Given the description of an element on the screen output the (x, y) to click on. 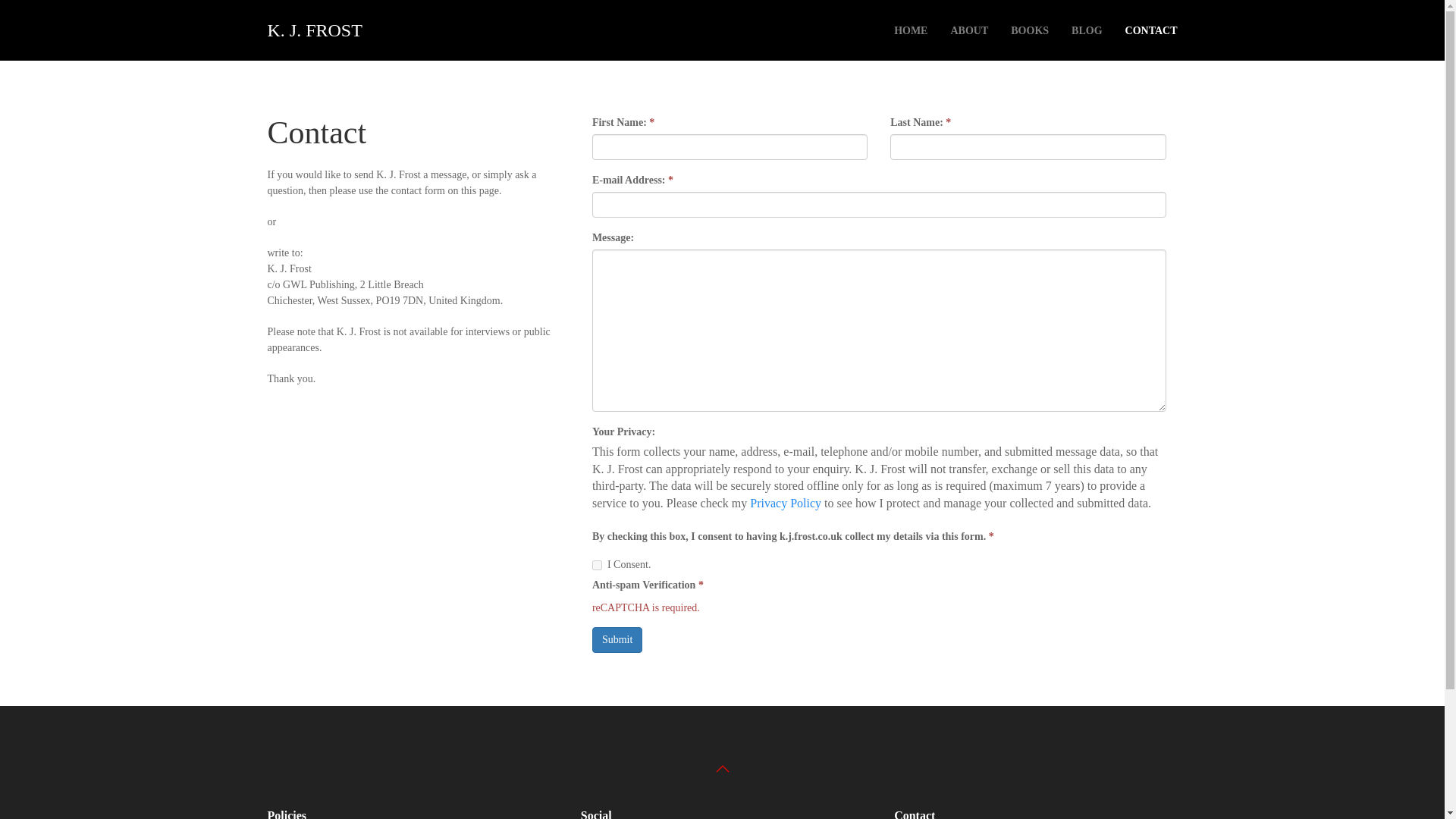
CONTACT (1151, 30)
Return to Top (721, 768)
Privacy Policy (785, 502)
BOOKS (1029, 30)
ABOUT (969, 30)
Submit (617, 639)
1 (597, 565)
K. J. FROST (313, 30)
HOME (910, 30)
BLOG (1086, 30)
